Given the description of an element on the screen output the (x, y) to click on. 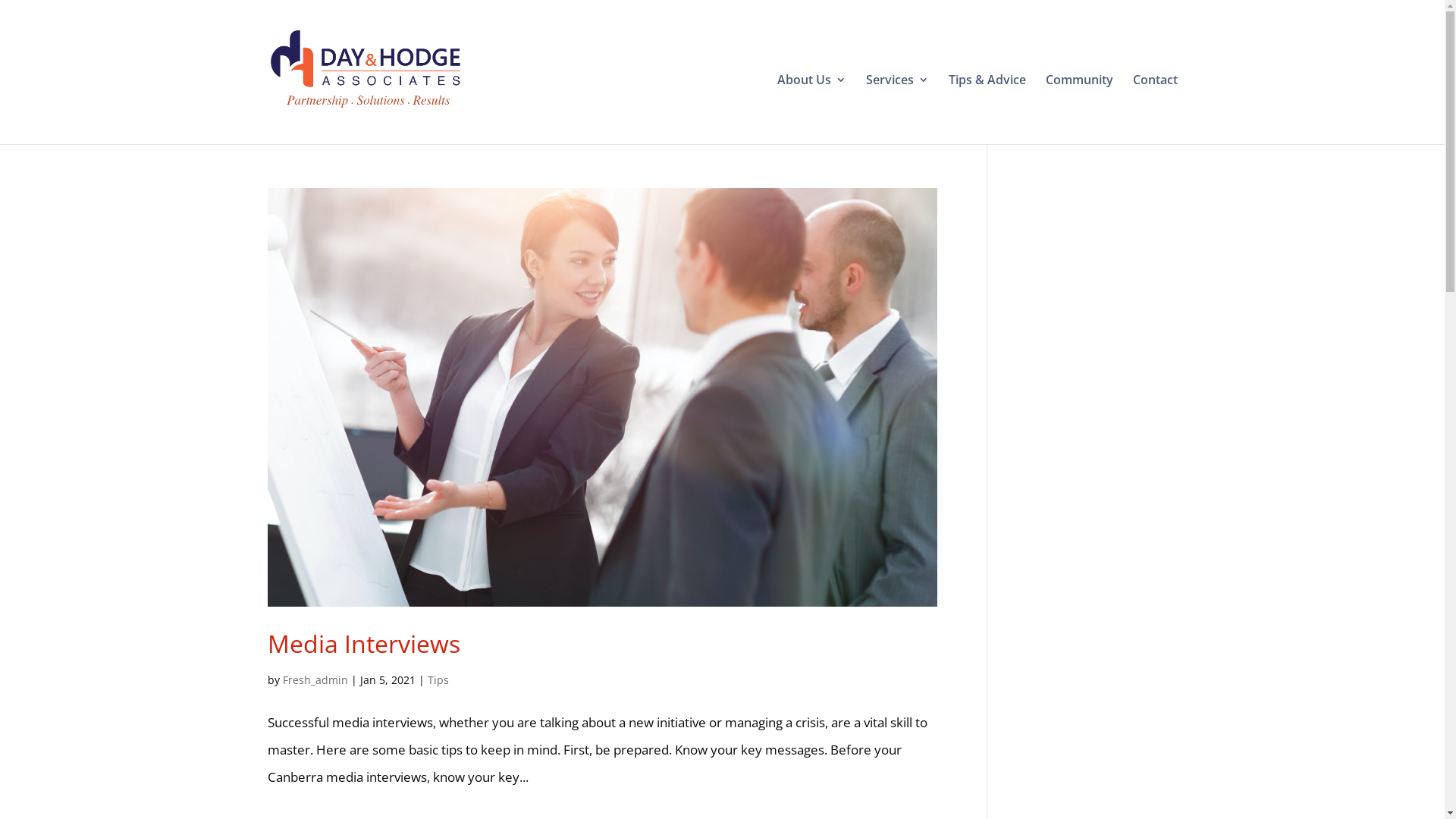
Contact Element type: text (1154, 100)
About Us Element type: text (810, 100)
Community Element type: text (1078, 100)
Fresh_admin Element type: text (314, 679)
Media Interviews Element type: text (362, 643)
Tips Element type: text (437, 679)
Services Element type: text (897, 100)
Tips & Advice Element type: text (986, 100)
